Given the description of an element on the screen output the (x, y) to click on. 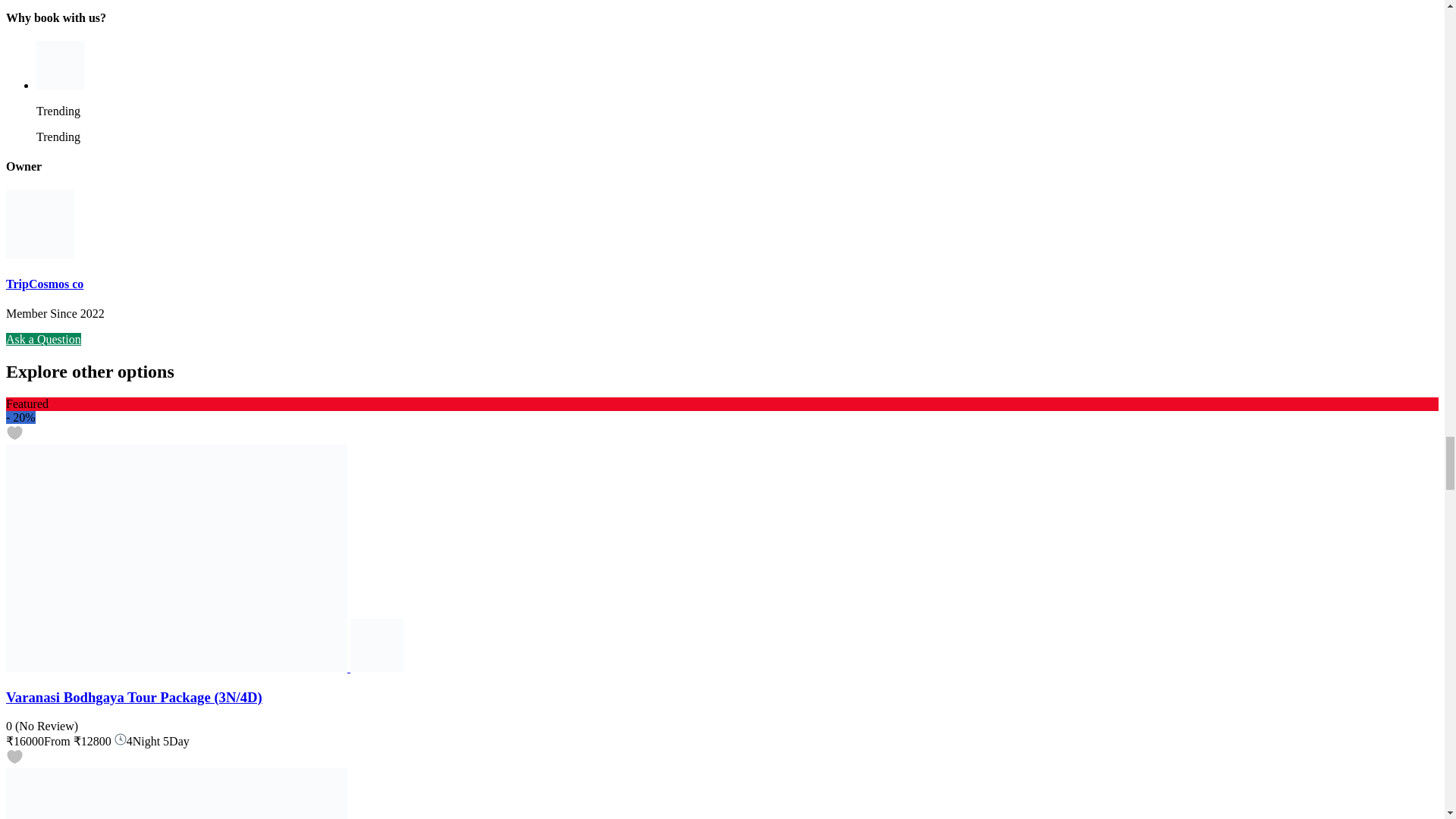
TripCosmos co (376, 667)
